Given the description of an element on the screen output the (x, y) to click on. 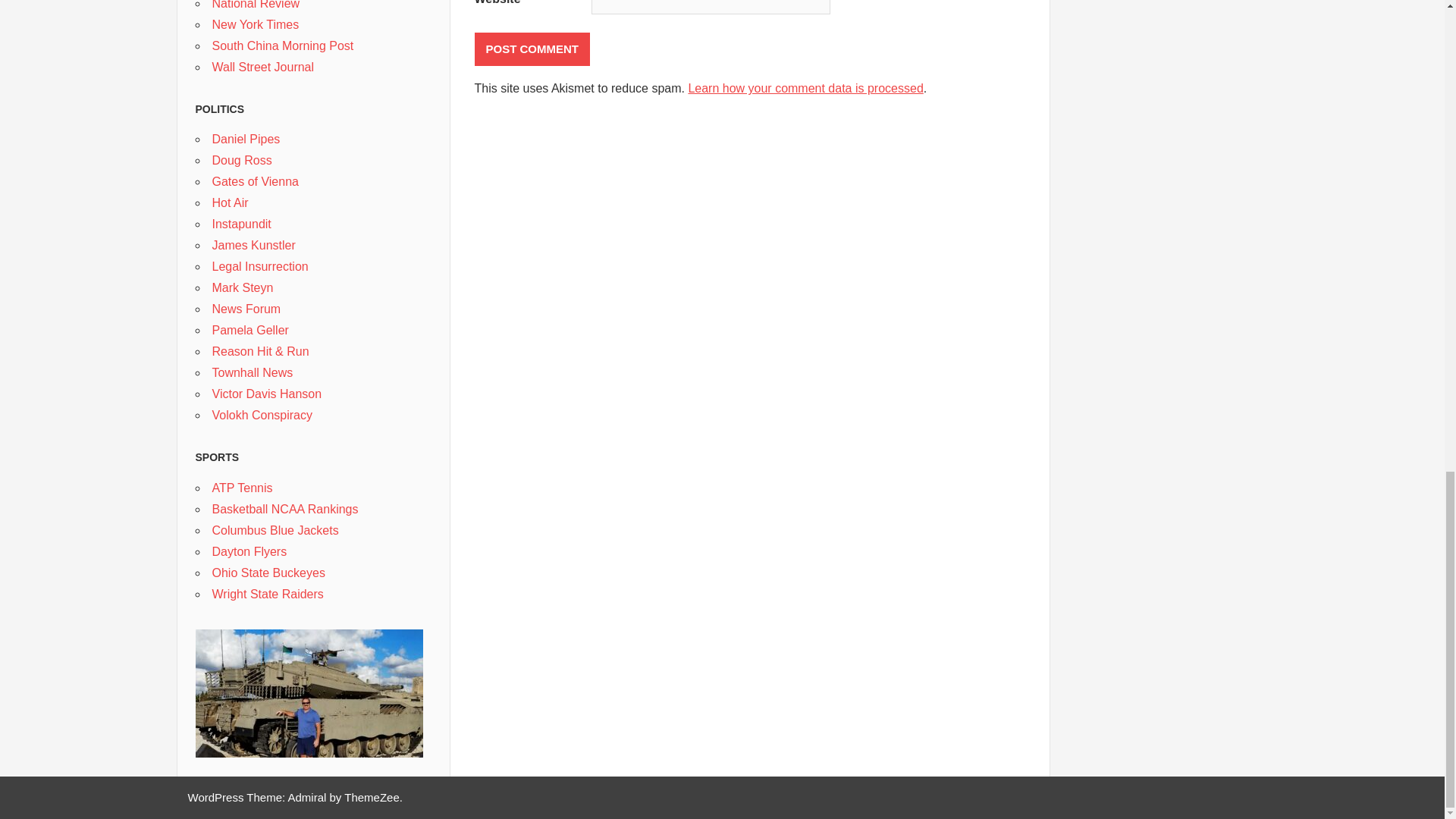
Post Comment (532, 49)
Post Comment (532, 49)
Learn how your comment data is processed (805, 88)
